Given the description of an element on the screen output the (x, y) to click on. 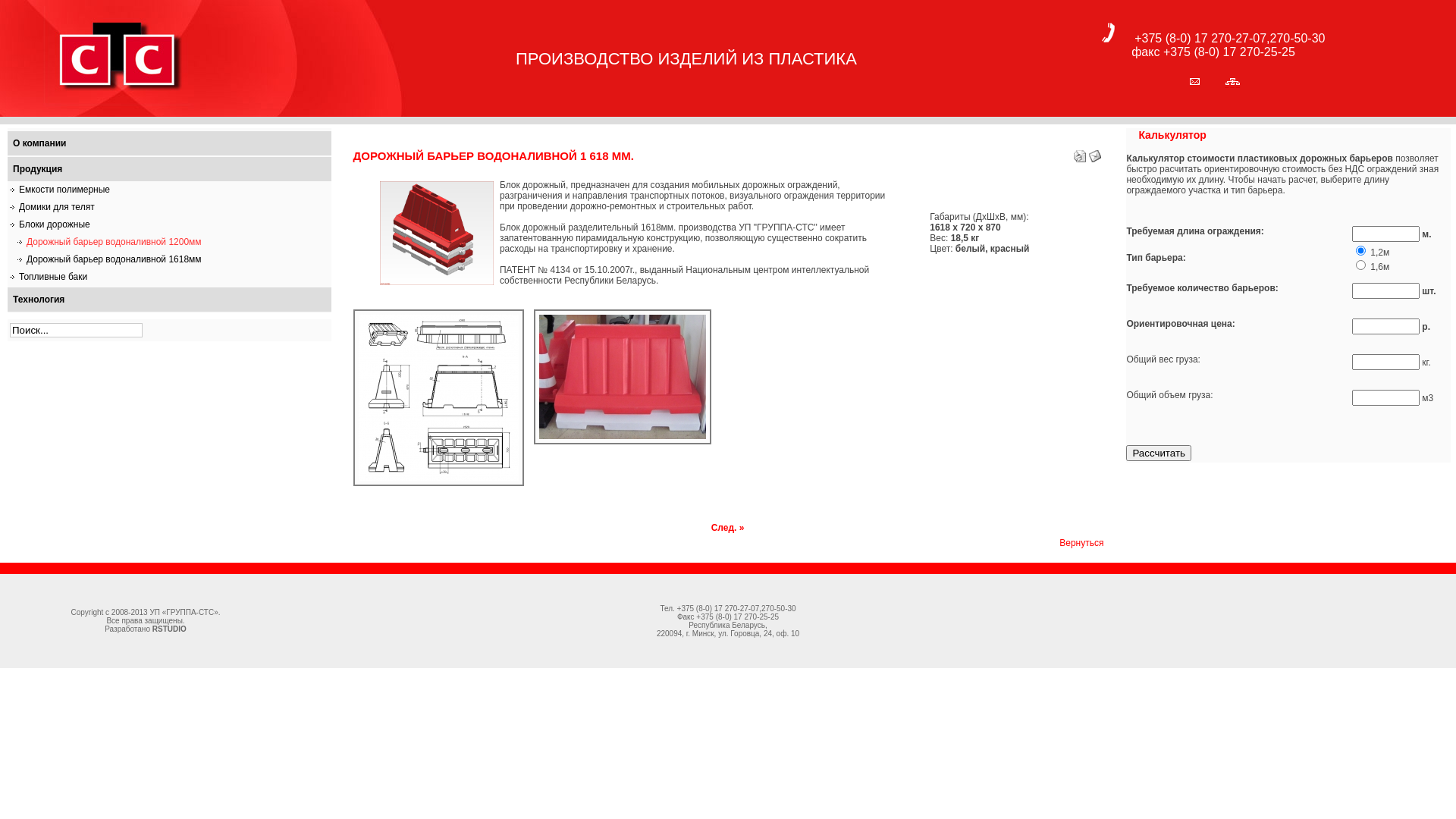
RSTUDIO Element type: text (169, 628)
E-mail Element type: hover (1094, 152)
